Given the description of an element on the screen output the (x, y) to click on. 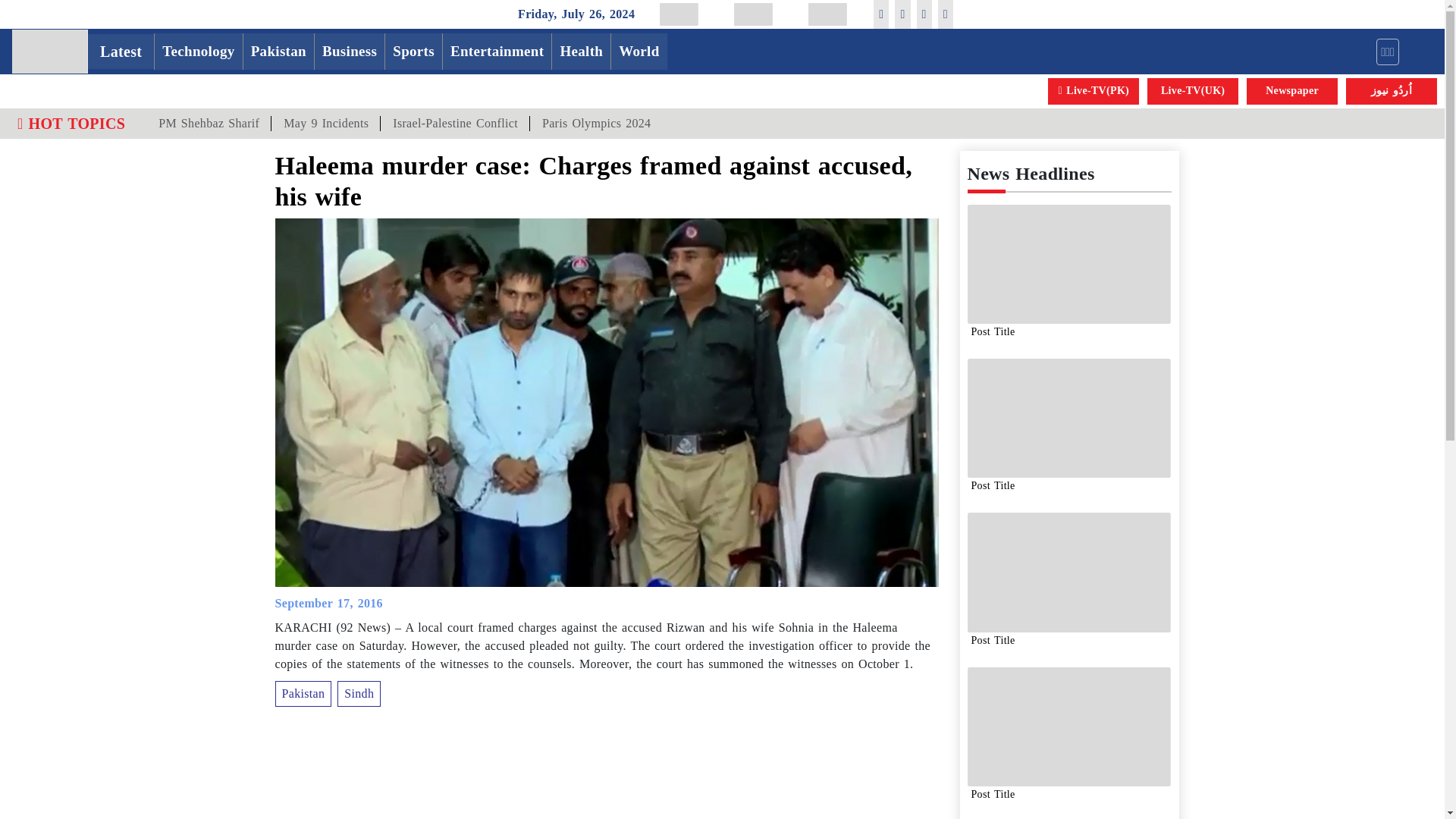
Health (580, 51)
PM Shehbaz Sharif (208, 123)
Entertainment (496, 51)
Paris Olympics 2024 (596, 123)
Sports (413, 51)
Pakistan (278, 51)
May 9 Incidents (325, 123)
Latest (120, 51)
Technology (197, 51)
Business (349, 51)
Israel-Palestine Conflict (454, 123)
September 17, 2016 (328, 603)
Newspaper (1292, 90)
World (638, 51)
